Given the description of an element on the screen output the (x, y) to click on. 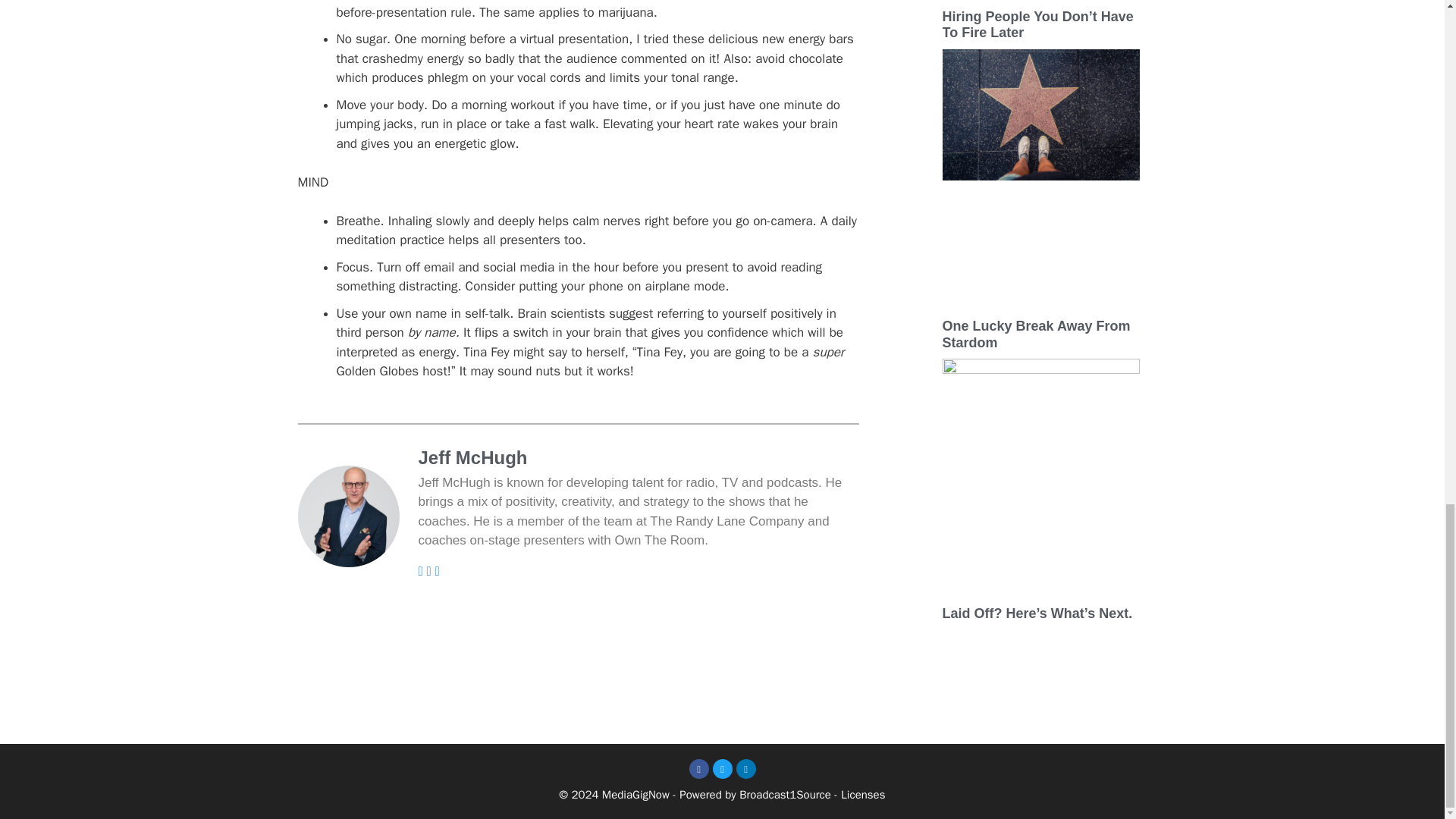
Jeff McHugh (639, 458)
One Lucky Break Away From Stardom (1035, 334)
Scroll back to top (1406, 210)
Licenses (863, 794)
Powered by Broadcast1Source (755, 794)
